Given the description of an element on the screen output the (x, y) to click on. 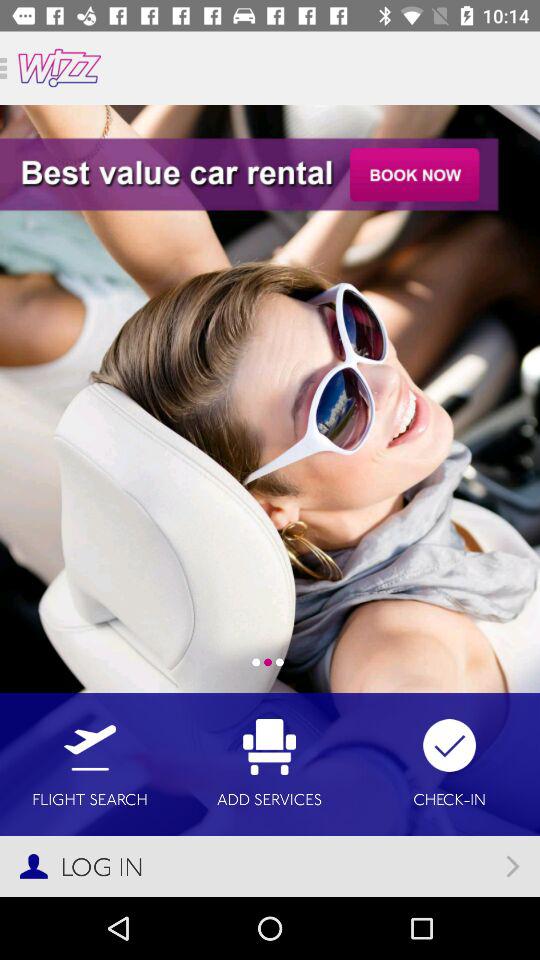
turn on item next to the add services item (90, 764)
